Given the description of an element on the screen output the (x, y) to click on. 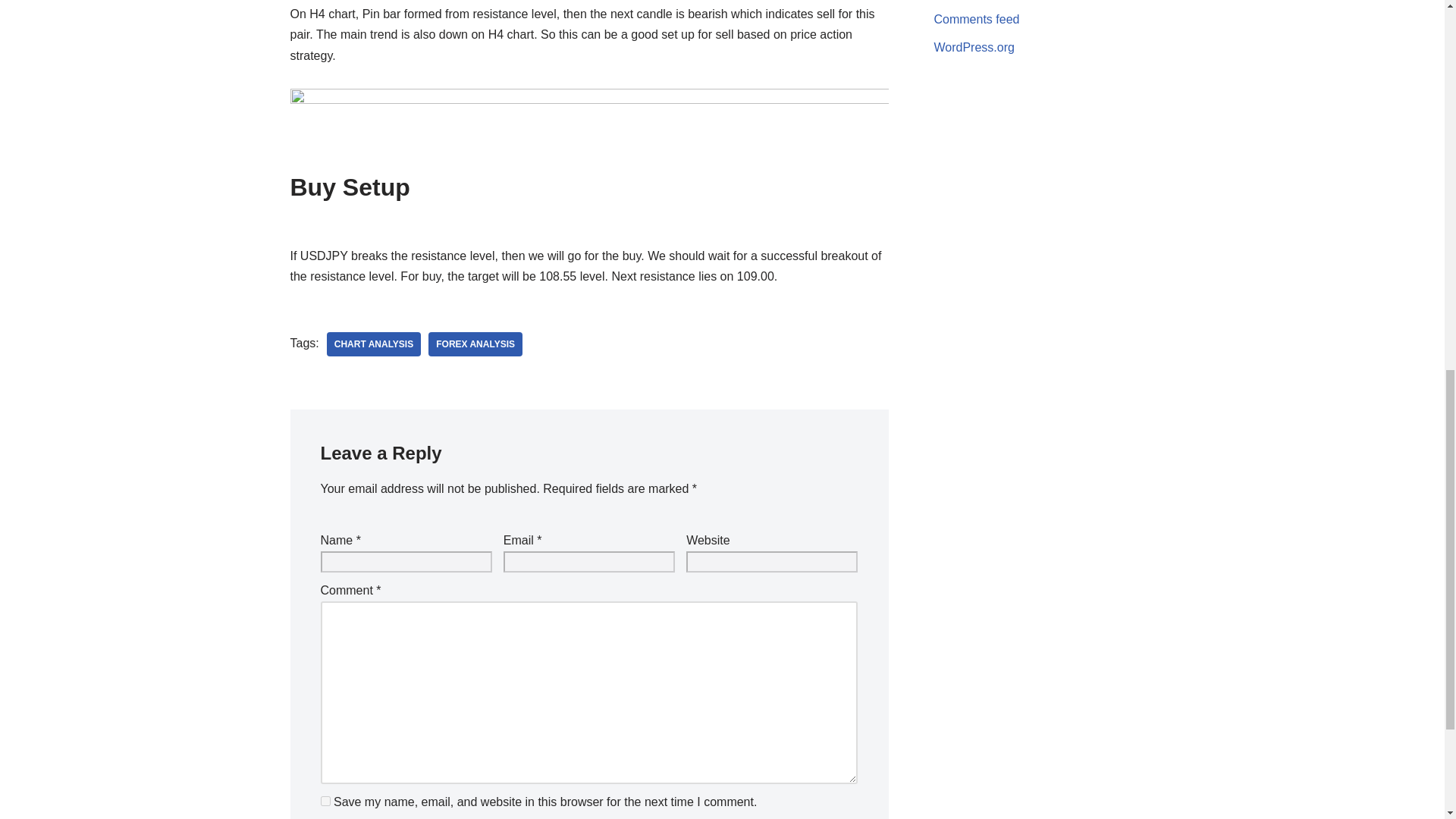
FOREX ANALYSIS (475, 344)
CHART ANALYSIS (373, 344)
chart analysis (373, 344)
yes (325, 800)
forex analysis (475, 344)
Comments feed (977, 19)
